Given the description of an element on the screen output the (x, y) to click on. 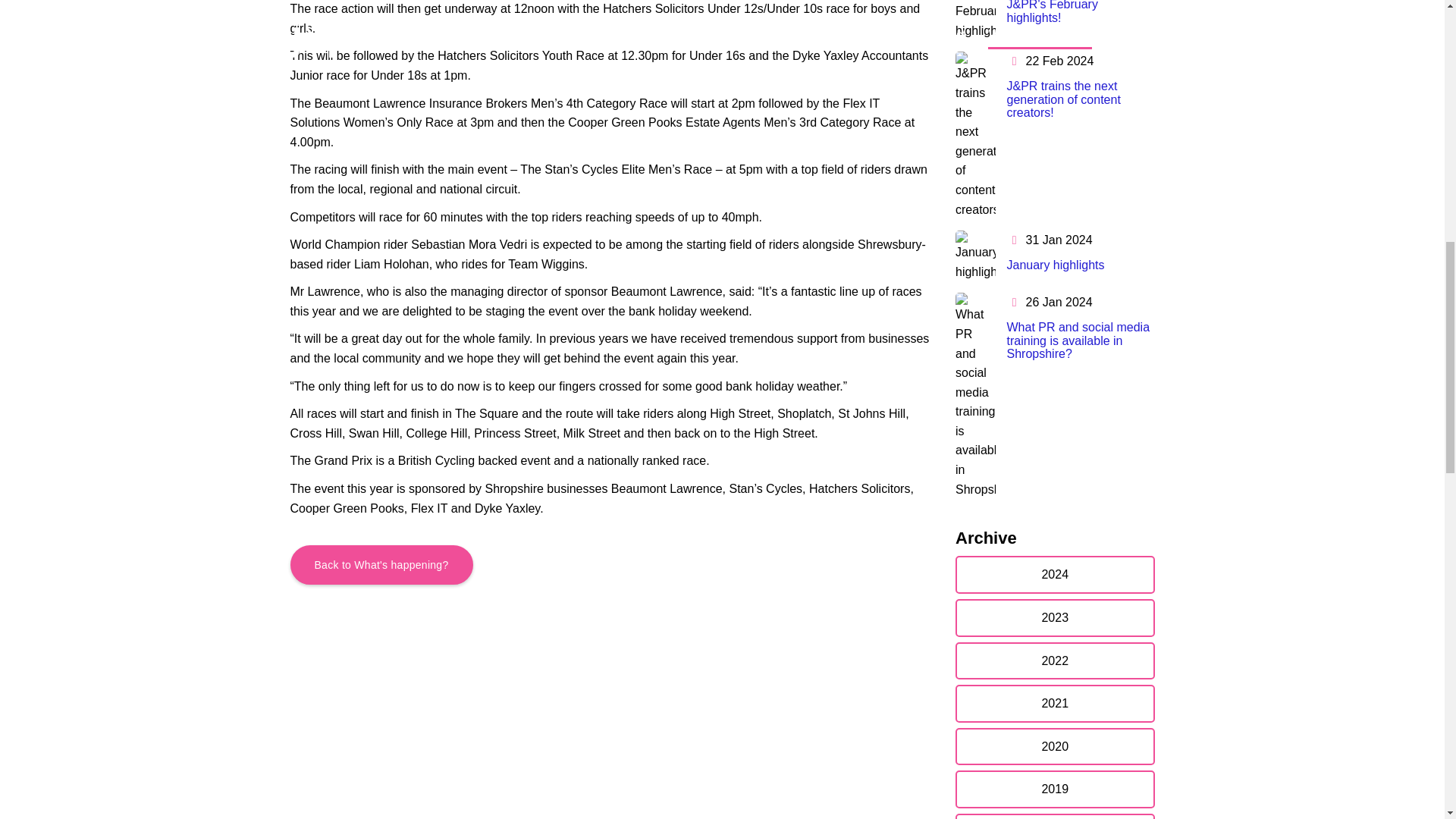
2022 (1054, 661)
January highlights (1056, 264)
Back to What's happening? (380, 564)
2023 (1054, 617)
2024 (1054, 574)
